Given the description of an element on the screen output the (x, y) to click on. 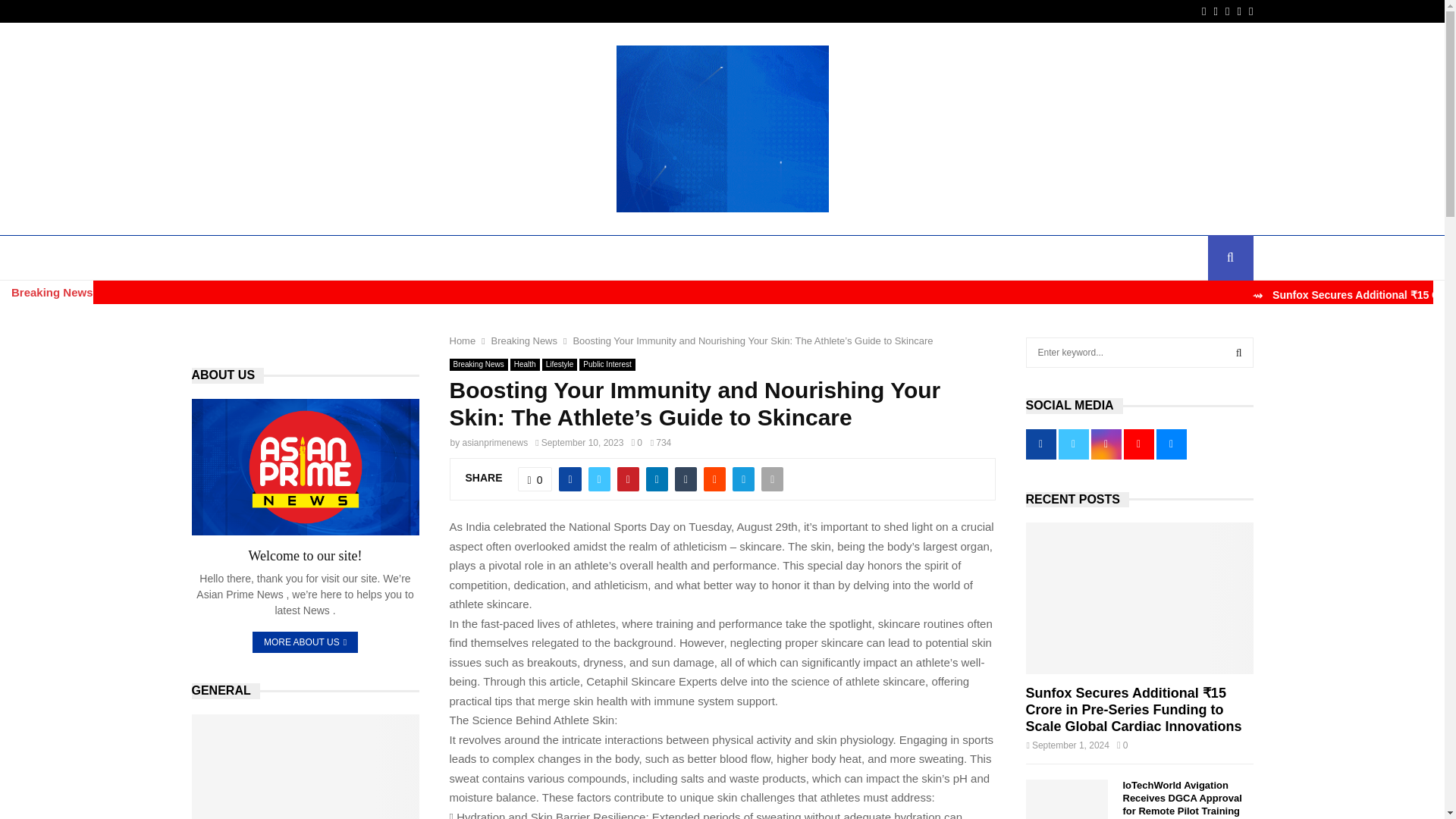
NEW PRODUCTS (901, 257)
EDUCATION (368, 257)
REAL ESTATE (1002, 257)
BUSINESS (287, 257)
Breaking News (524, 340)
MORE (1082, 257)
Like (535, 478)
Home (462, 340)
HOME (218, 257)
FINANCE (445, 257)
